Given the description of an element on the screen output the (x, y) to click on. 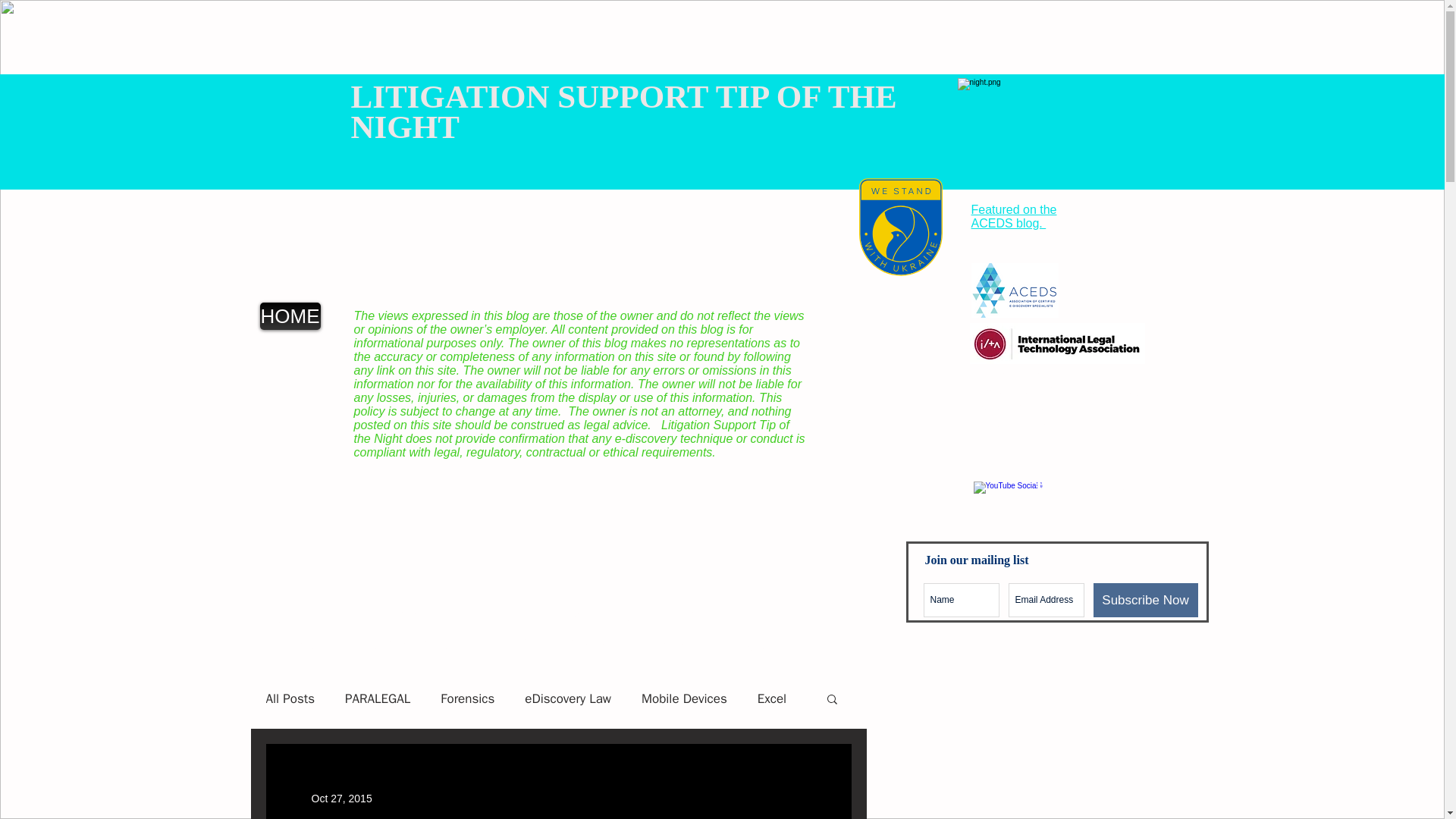
Excel (771, 698)
Subscribe Now (1145, 600)
Featured on the ACEDS blog.  (1014, 216)
Forensics (468, 698)
Mobile Devices (684, 698)
PARALEGAL (377, 698)
eDiscovery Law (567, 698)
See How-To Videos on my  YouTube channel. (1104, 494)
All Posts (289, 698)
Oct 27, 2015 (341, 797)
HOME (289, 316)
logo.jpg (304, 122)
